Given the description of an element on the screen output the (x, y) to click on. 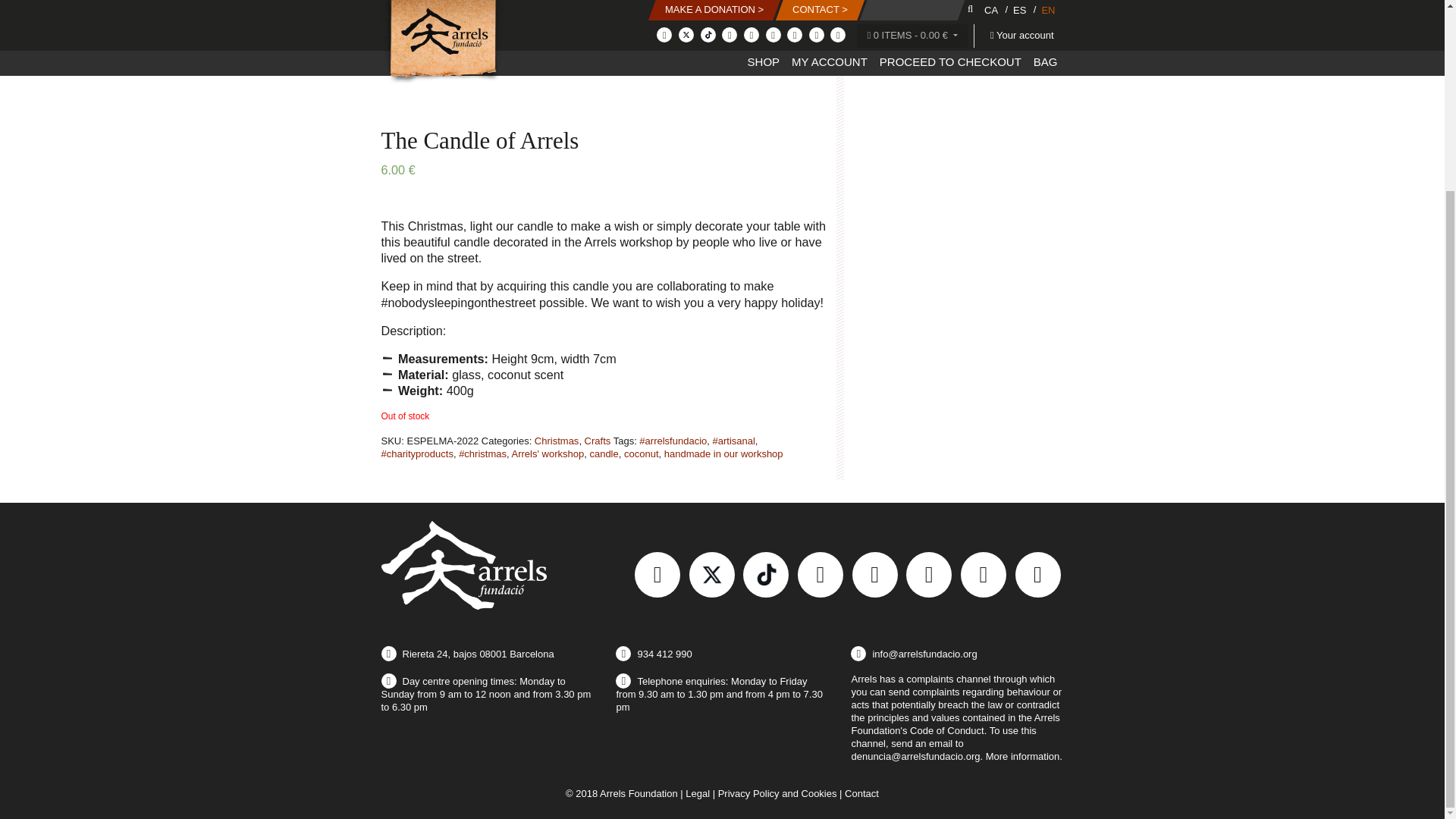
Christmas (556, 440)
candle (603, 453)
coconut (641, 453)
Crafts (598, 440)
Arrels' workshop (547, 453)
